Given the description of an element on the screen output the (x, y) to click on. 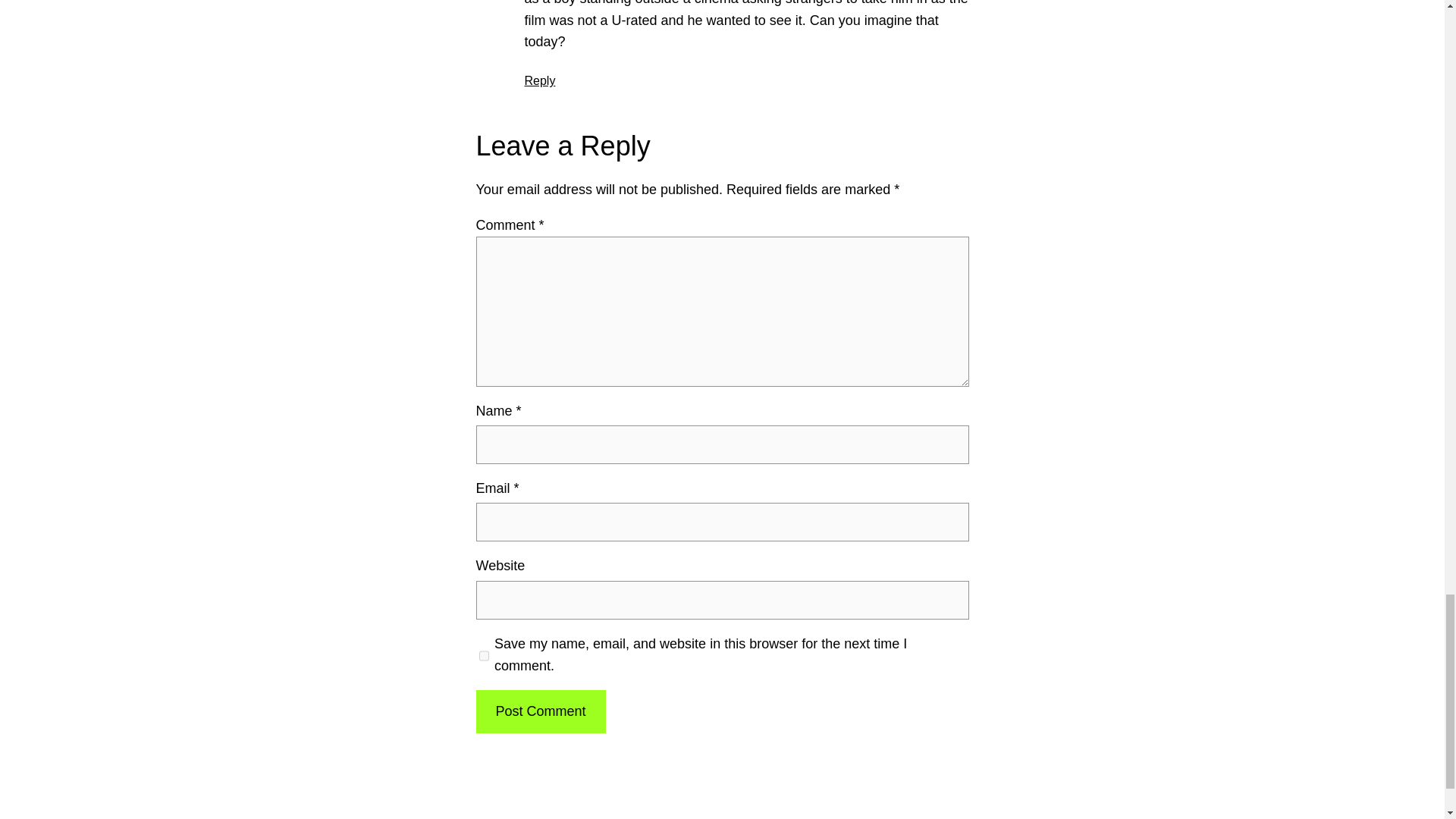
Reply (540, 80)
Post Comment (540, 711)
Post Comment (540, 711)
